Given the description of an element on the screen output the (x, y) to click on. 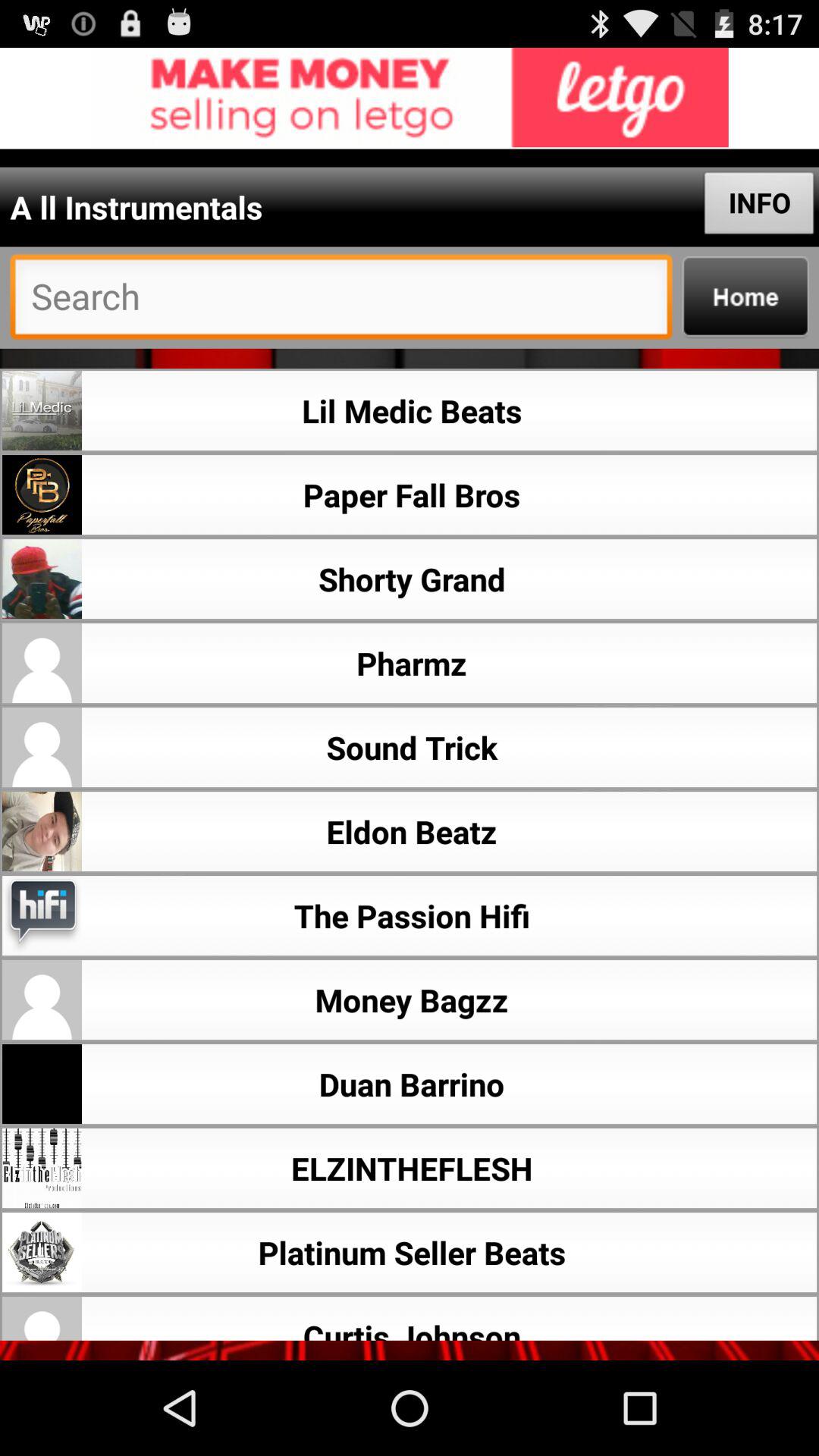
serch (341, 300)
